Given the description of an element on the screen output the (x, y) to click on. 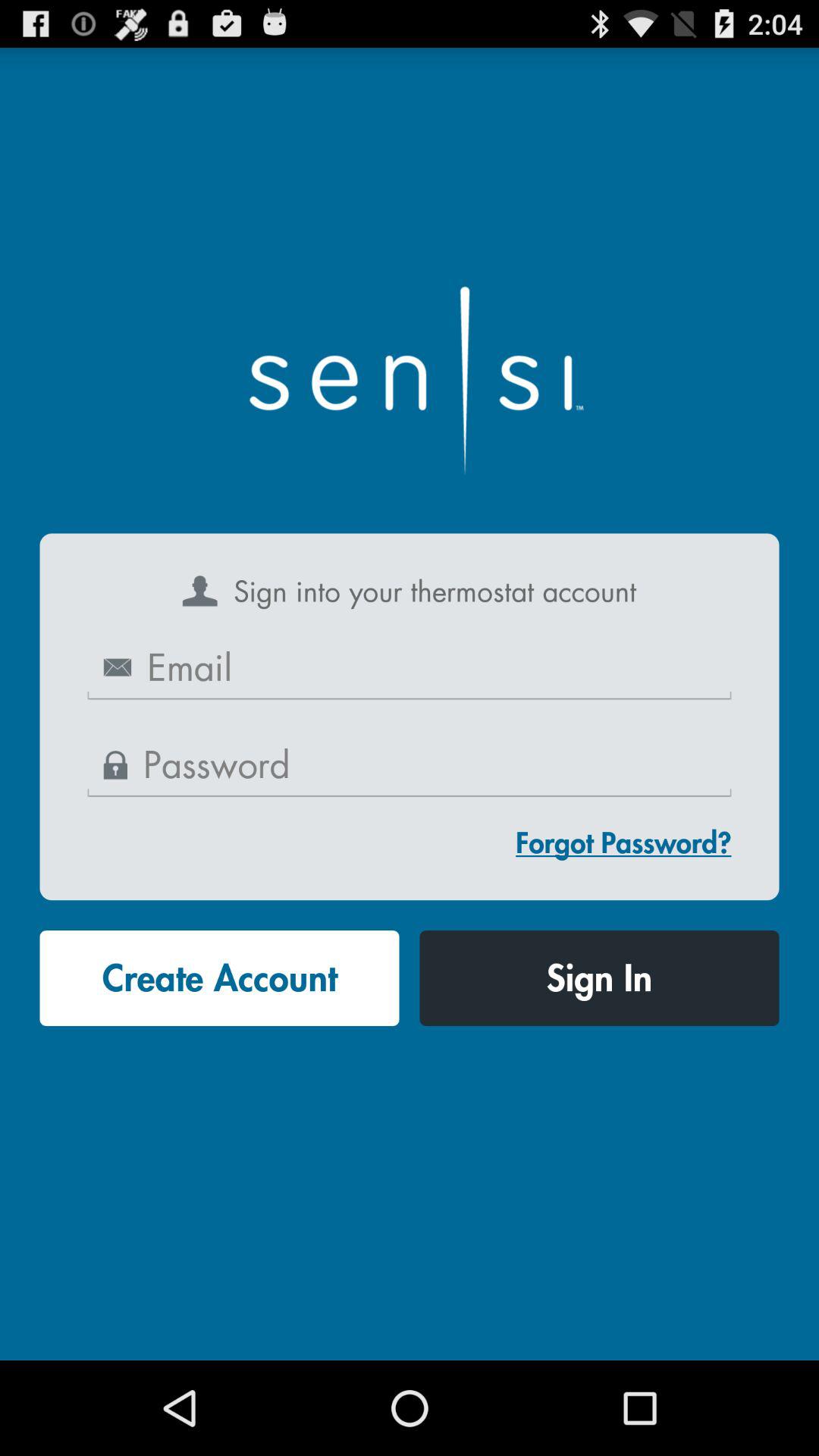
select the item at the top (409, 373)
